Given the description of an element on the screen output the (x, y) to click on. 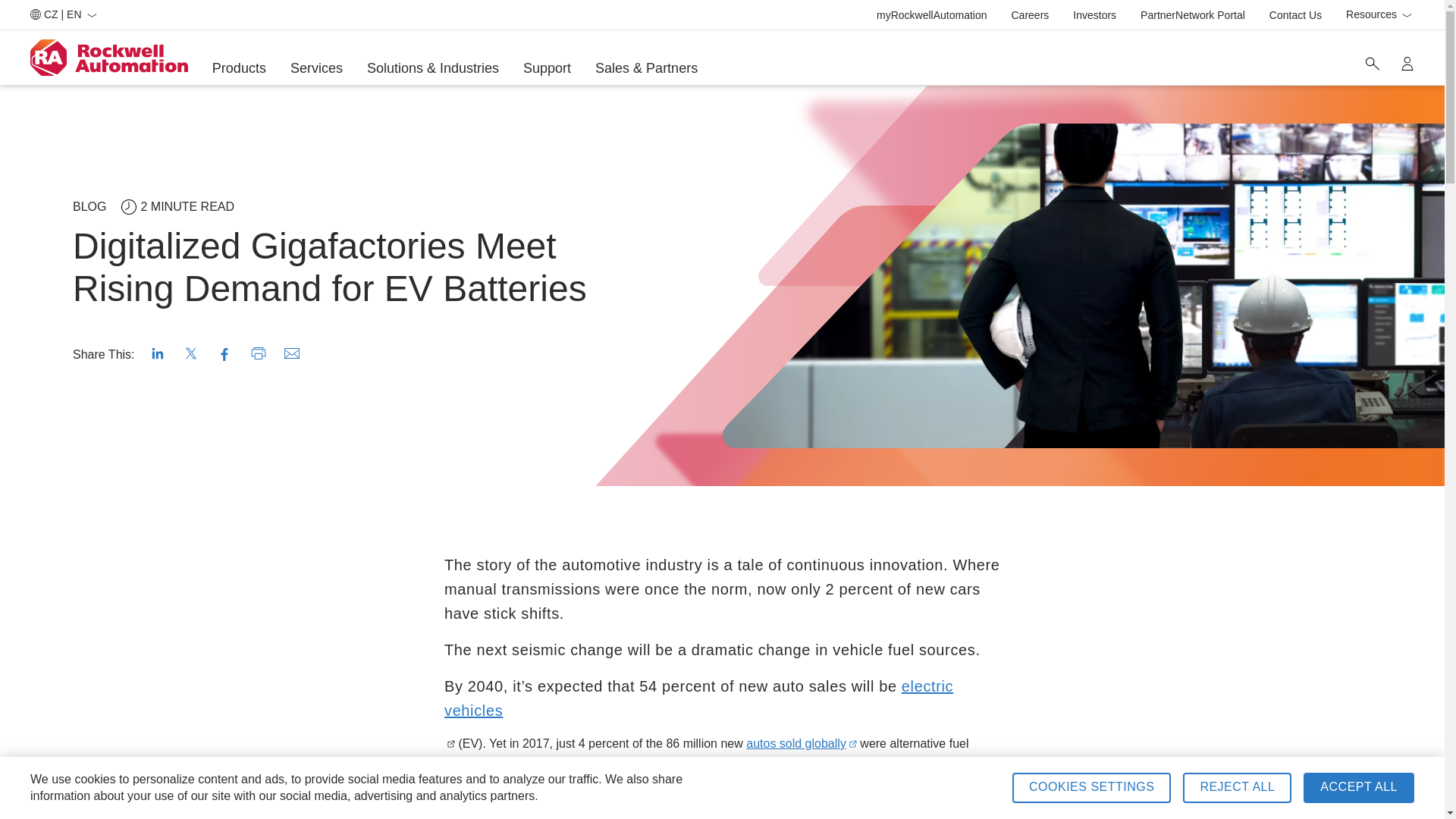
SearchSearch (1371, 63)
PartnerNetwork Portal (1192, 15)
Chevron DownChevron Down (1406, 15)
Contact Us (1379, 15)
myRockwellAutomation (1295, 15)
Investors (931, 15)
Products (1094, 15)
UserUser (239, 68)
Careers (1406, 63)
Opens in a new window (1030, 15)
Opens in a new window (698, 698)
Chevron DownChevron Down (801, 743)
